Given the description of an element on the screen output the (x, y) to click on. 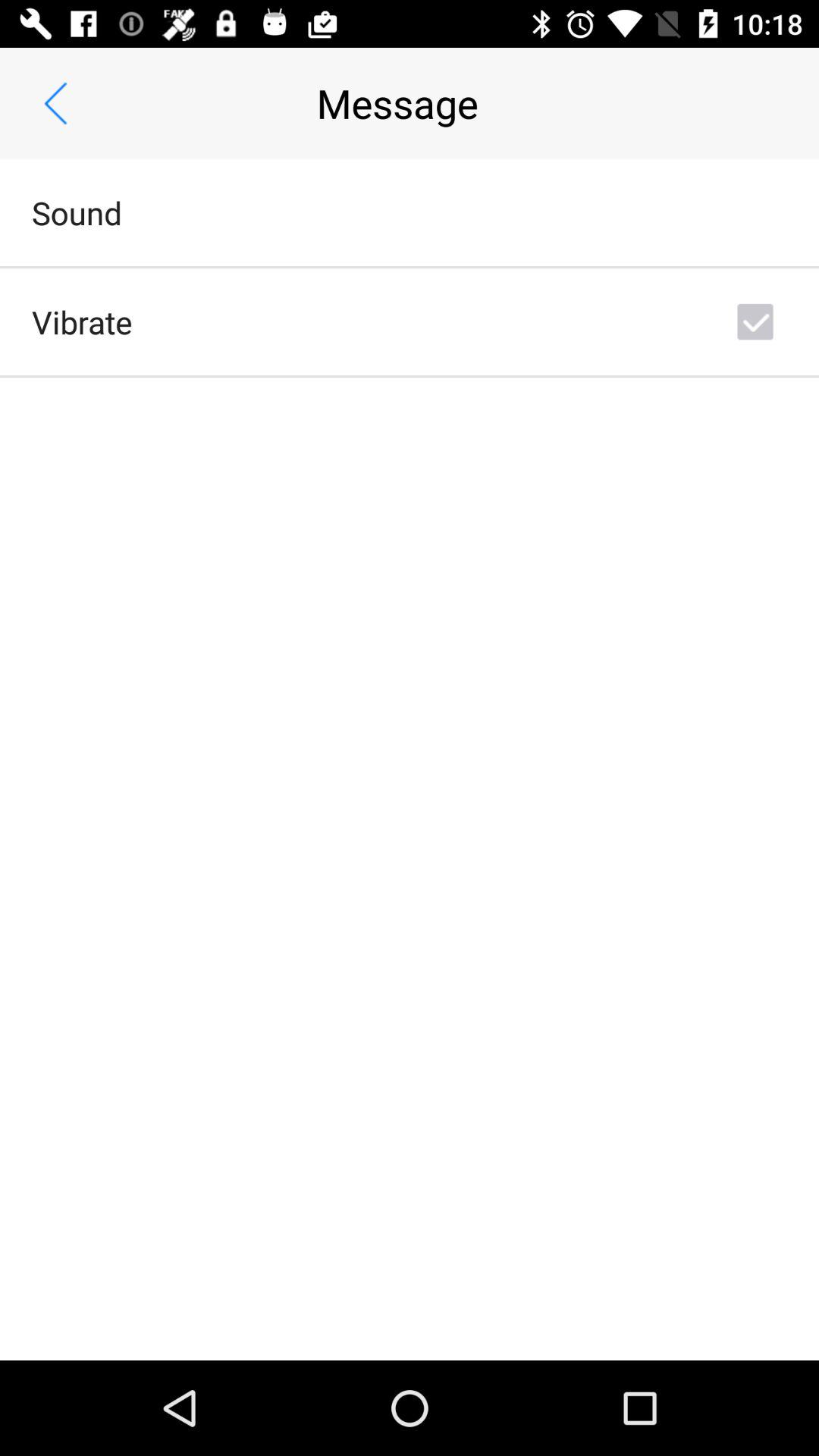
turn on the icon to the left of message app (55, 103)
